Given the description of an element on the screen output the (x, y) to click on. 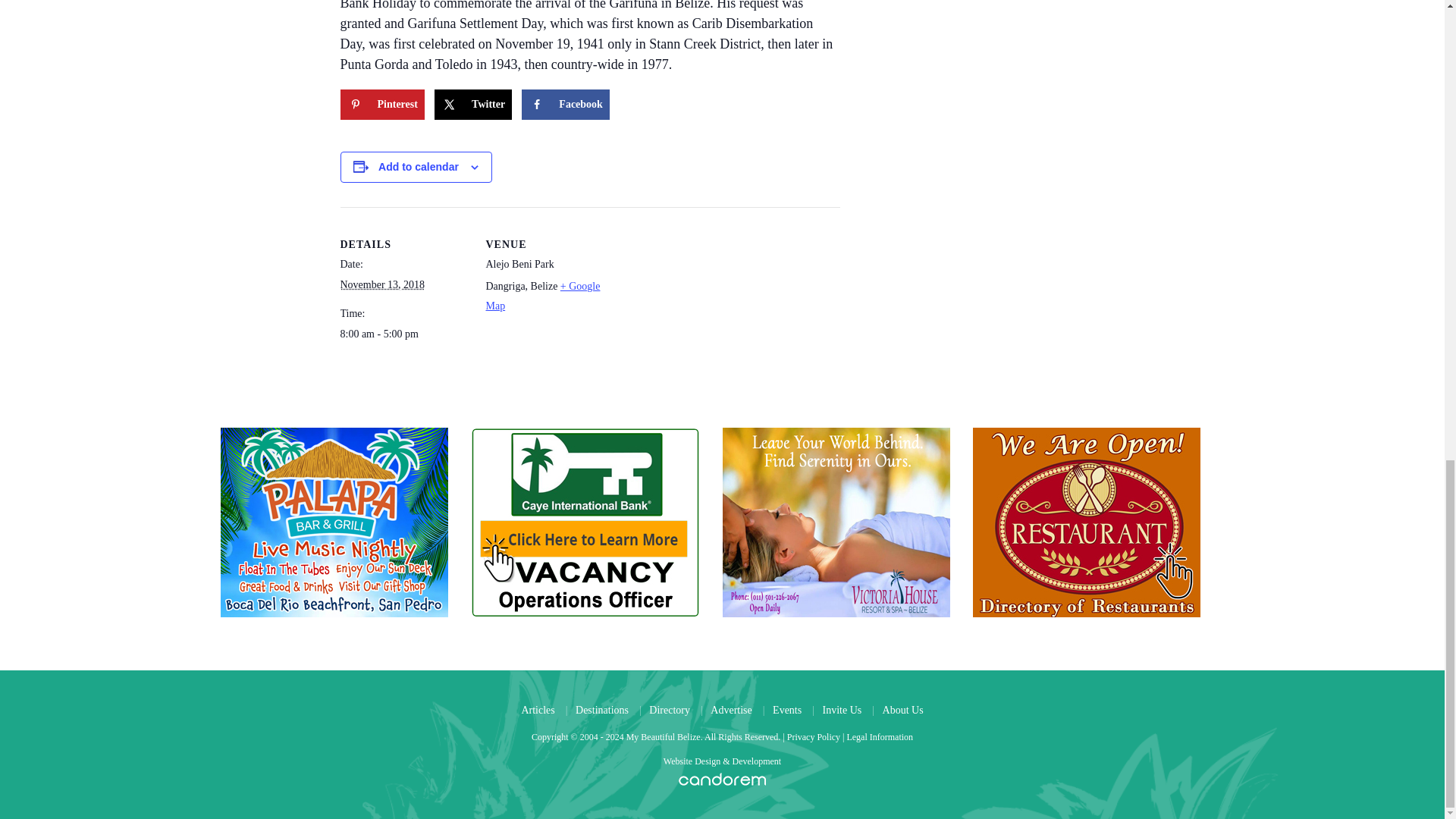
Share on Facebook (565, 104)
Click to view a Google Map (541, 296)
Google maps iframe displaying the address to Alejo Beni Park (710, 311)
Save to Pinterest (381, 104)
Share on X (472, 104)
2018-11-13 (382, 284)
2018-11-13 (403, 334)
